Given the description of an element on the screen output the (x, y) to click on. 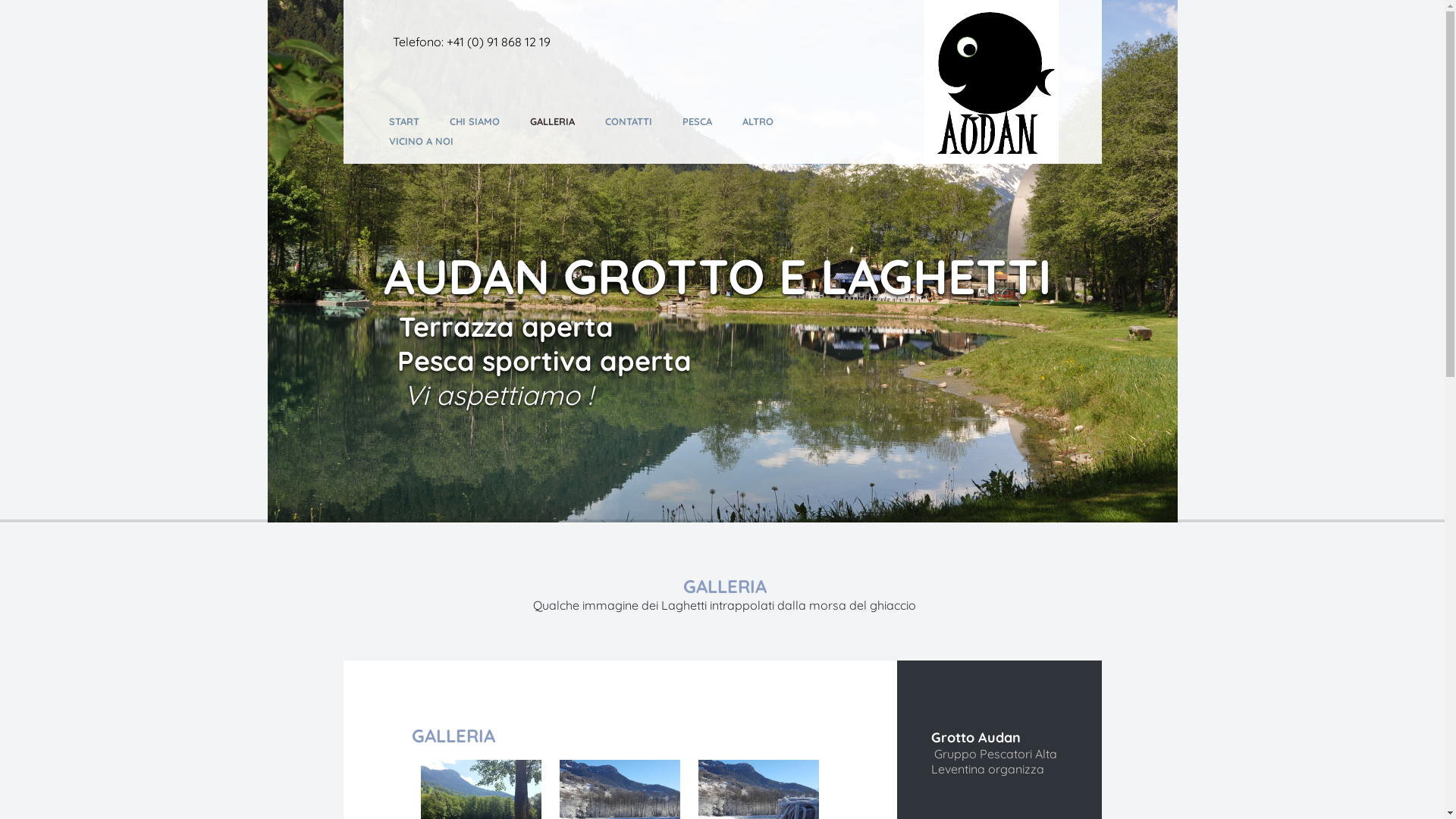
PESCA Element type: text (702, 121)
CHI SIAMO Element type: text (479, 121)
START Element type: text (408, 121)
CONTATTI Element type: text (634, 121)
GALLERIA Element type: text (557, 121)
ALTRO Element type: text (762, 121)
VICINO A NOI Element type: text (426, 140)
